Given the description of an element on the screen output the (x, y) to click on. 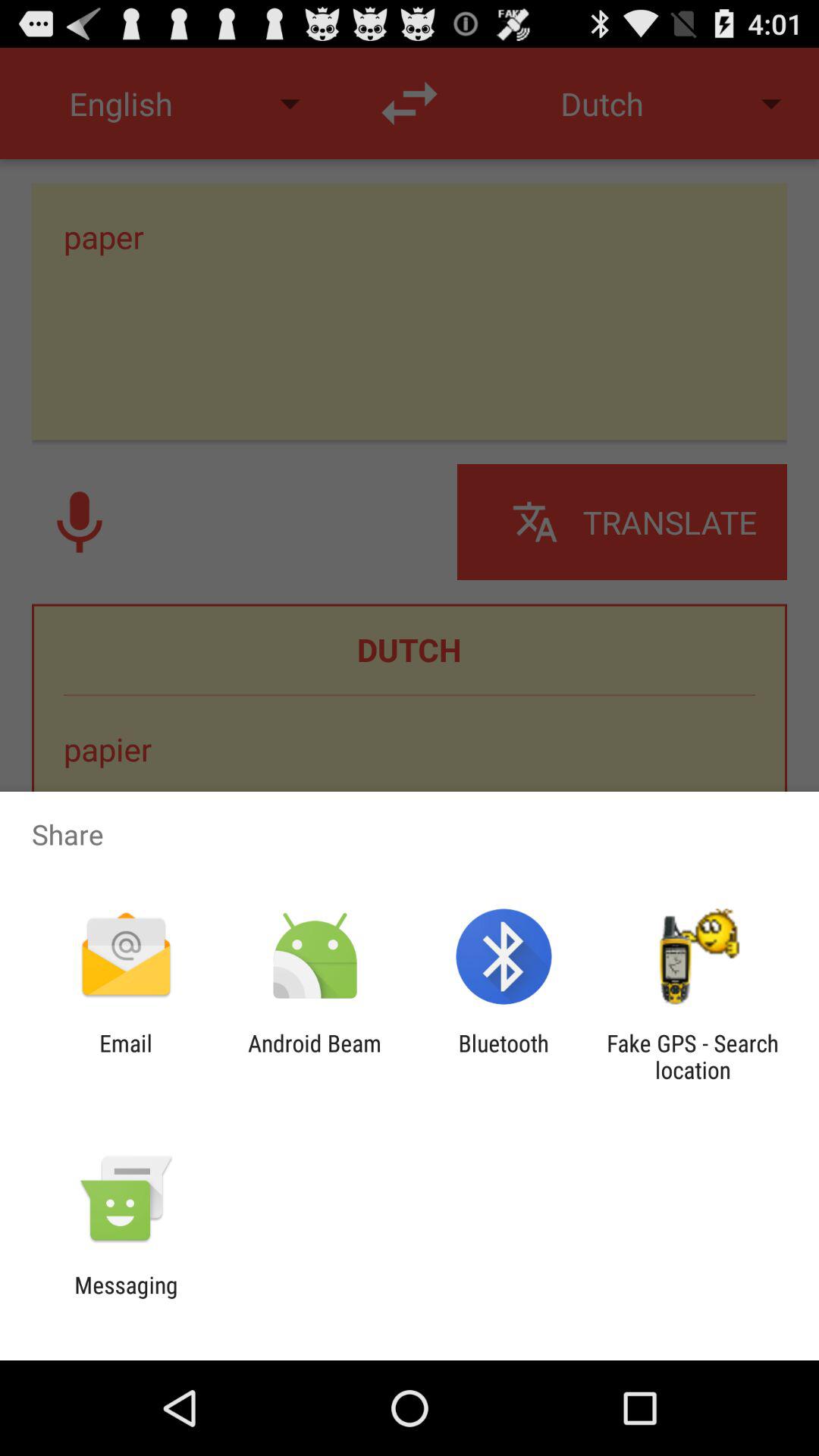
click the icon next to the bluetooth icon (314, 1056)
